Given the description of an element on the screen output the (x, y) to click on. 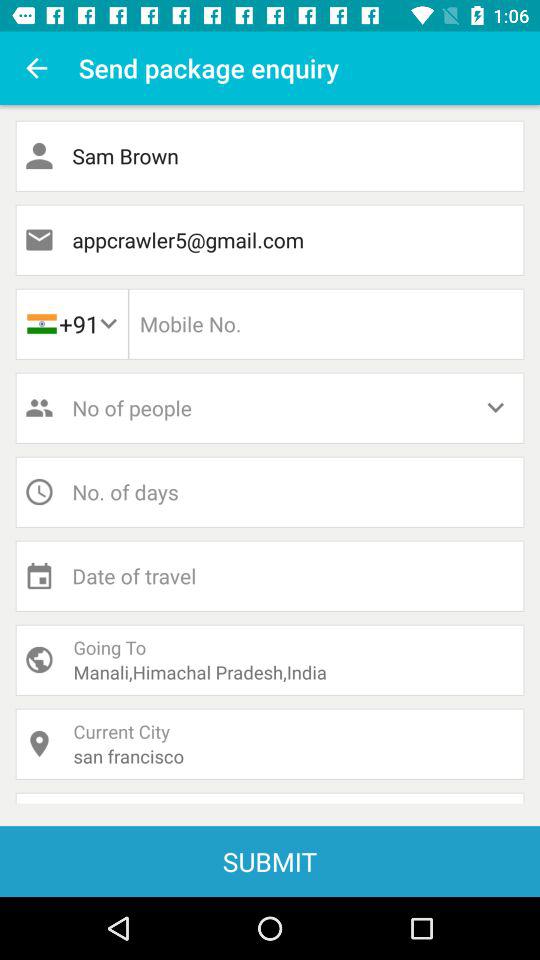
scroll to the appcrawler5@gmail.com item (269, 239)
